Given the description of an element on the screen output the (x, y) to click on. 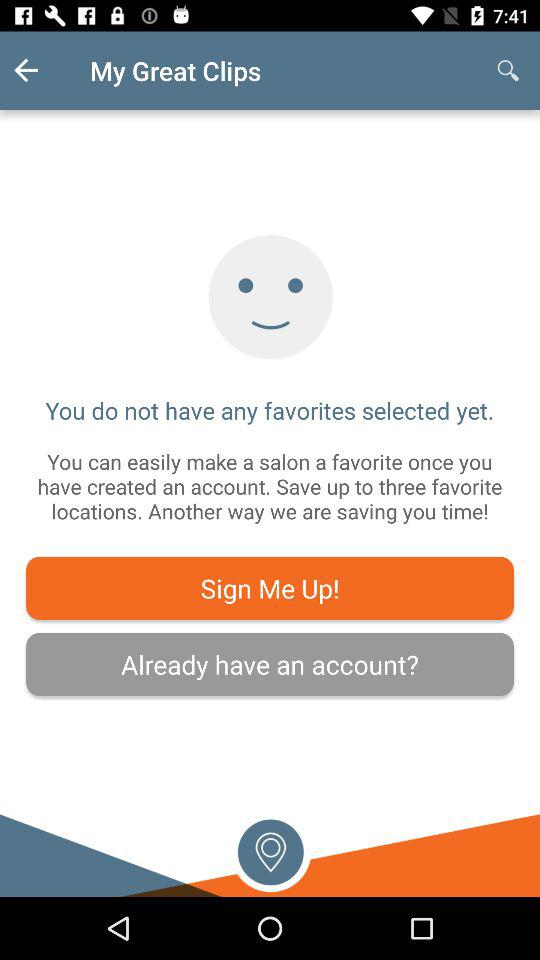
launch icon to the right of the my great clips icon (508, 70)
